Given the description of an element on the screen output the (x, y) to click on. 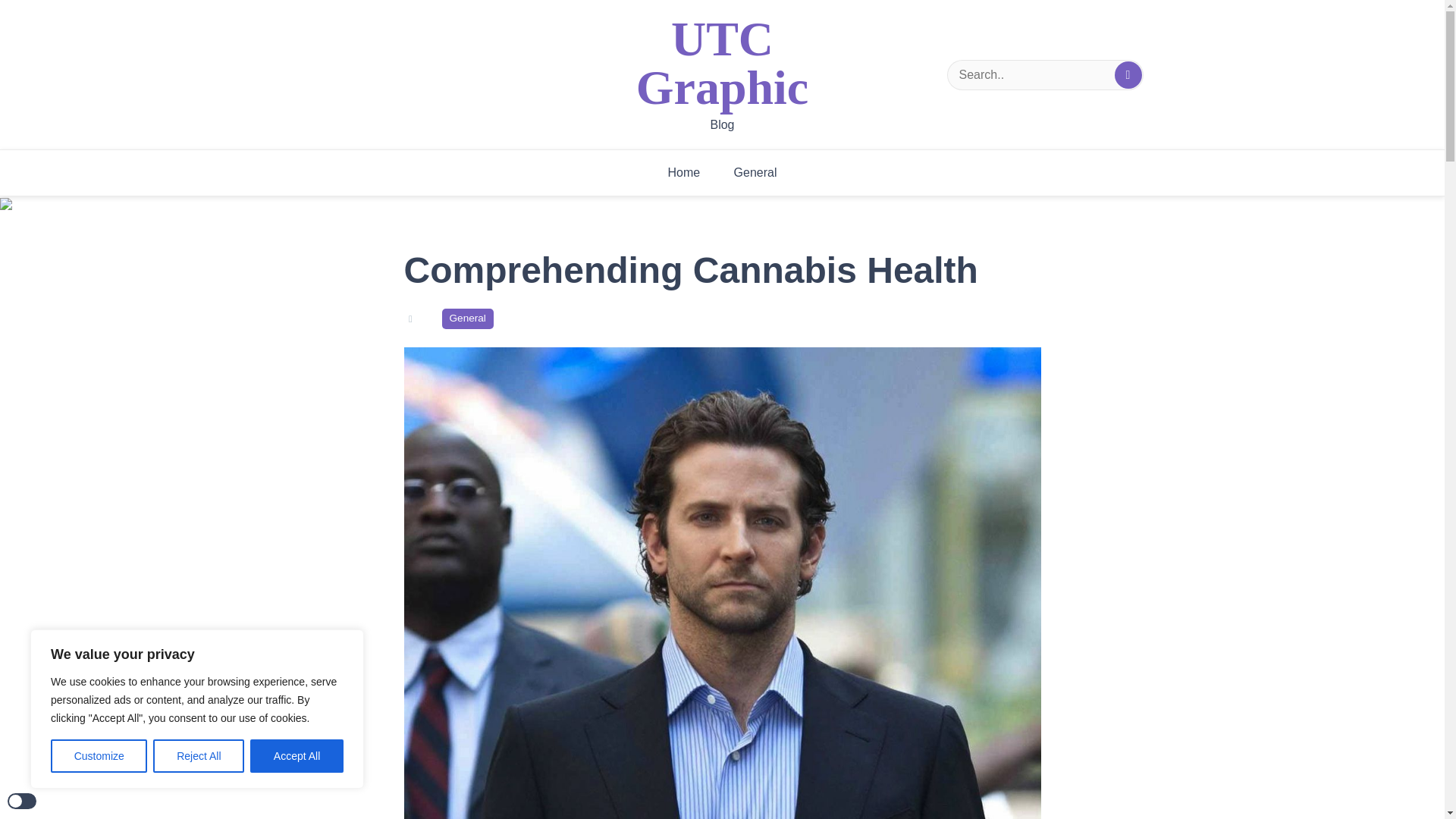
Customize (98, 756)
General (755, 173)
General (467, 318)
Accept All (296, 756)
Reject All (198, 756)
UTC Graphic (722, 63)
Home (683, 173)
